Given the description of an element on the screen output the (x, y) to click on. 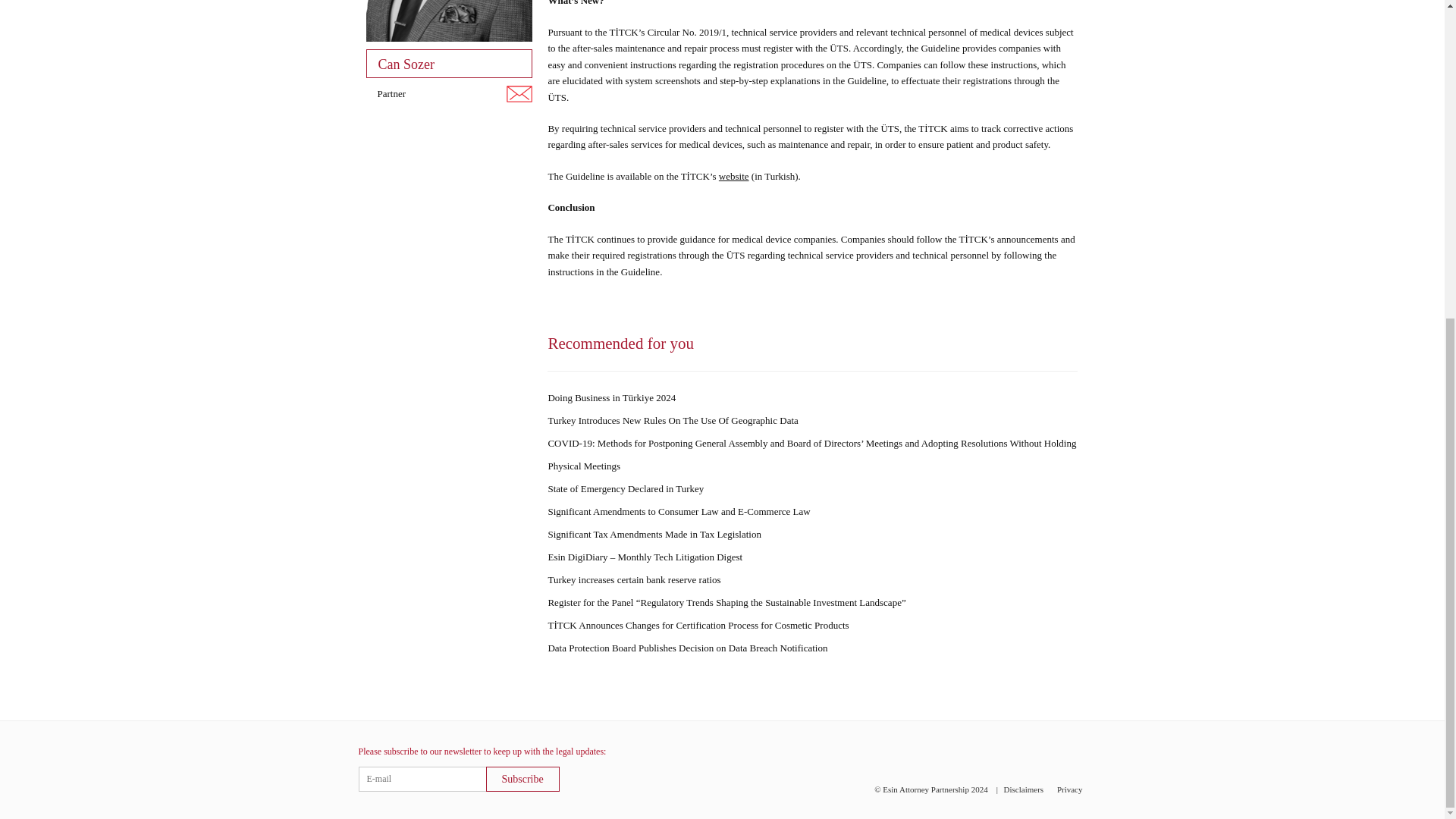
Significant Amendments to Consumer Law and E-Commerce Law (678, 511)
Privacy (1070, 788)
State of Emergency Declared in Turkey (625, 488)
Significant Tax Amendments Made in Tax Legislation (654, 533)
Turkey increases certain bank reserve ratios (633, 579)
Subscribe (521, 778)
Turkey Introduces New Rules On The Use Of Geographic Data (672, 419)
Can Sozer (448, 38)
Disclaimers (1023, 788)
website (734, 175)
